Given the description of an element on the screen output the (x, y) to click on. 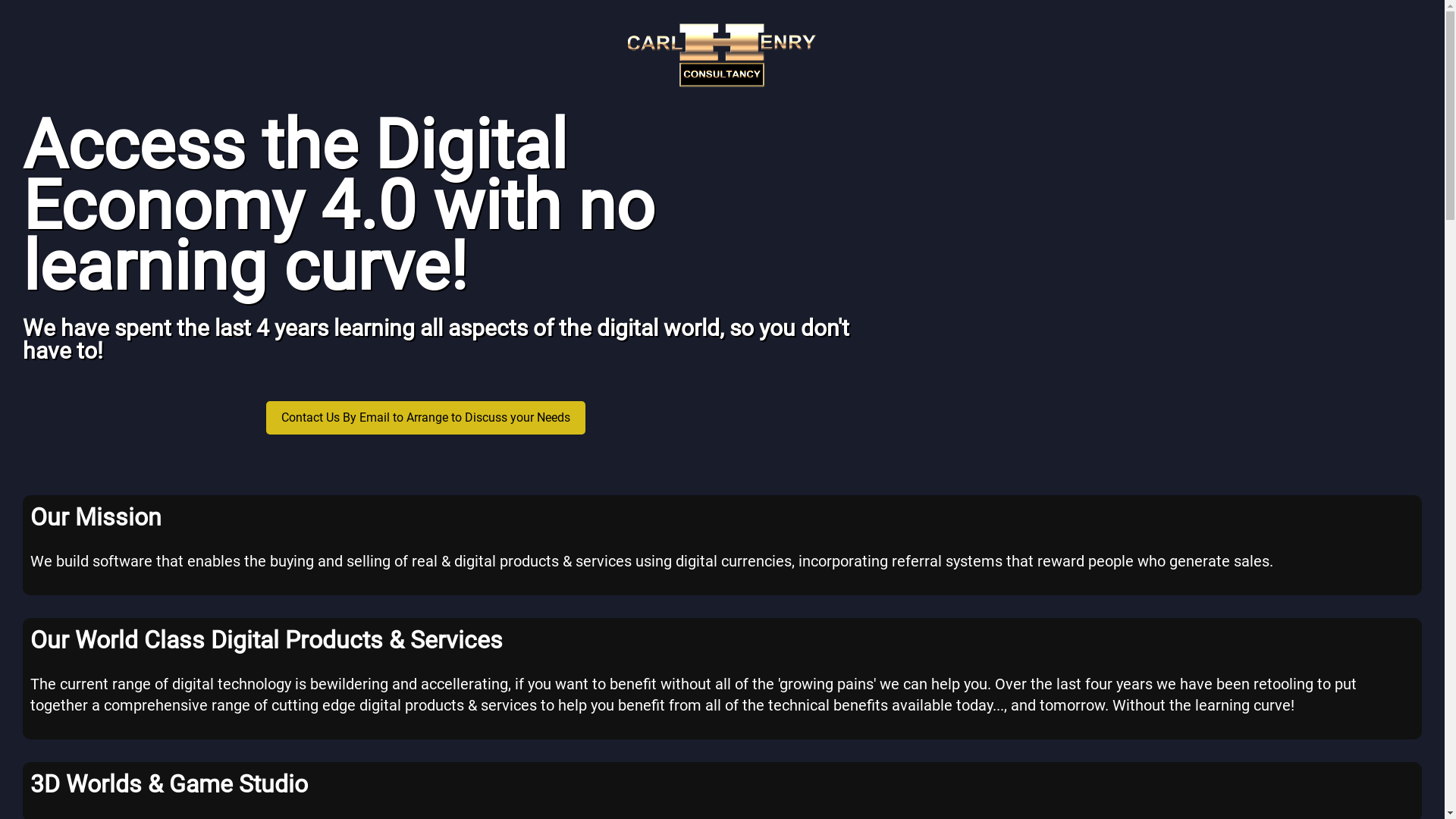
Contact Us By Email to Arrange to Discuss your Needs Element type: text (425, 416)
